Given the description of an element on the screen output the (x, y) to click on. 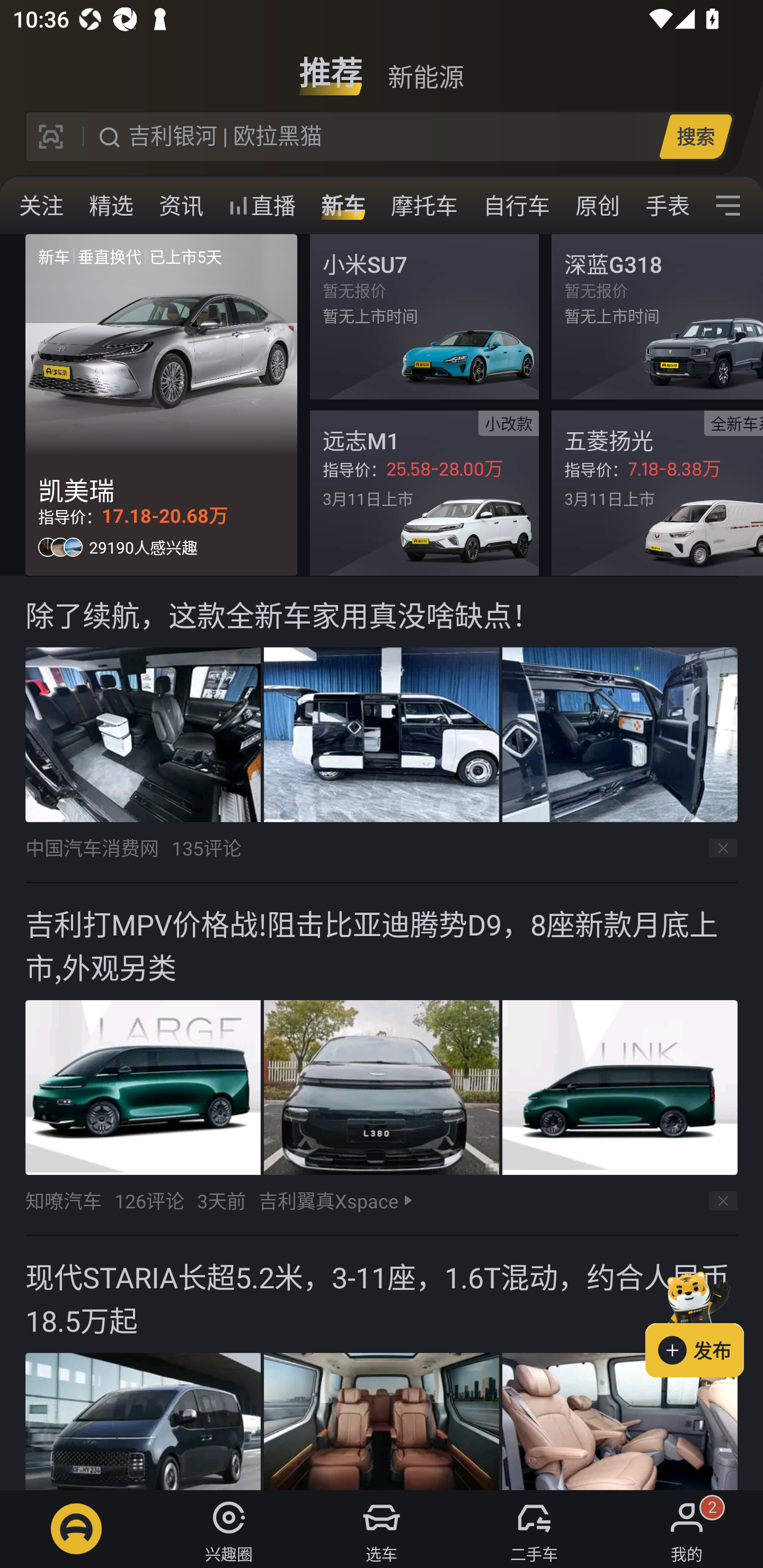
推荐 (330, 65)
新能源 (425, 65)
搜索 (695, 136)
关注 (41, 205)
精选 (111, 205)
资讯 (180, 205)
直播 (261, 205)
新车 (343, 205)
摩托车 (424, 205)
自行车 (516, 205)
原创 (597, 205)
手表 (663, 205)
 (727, 205)
暂无报价 (423, 316)
暂无报价 (657, 316)
小改款指导价：25.58-28.00万 (423, 492)
全新车系指导价：7.18-8.38万 (657, 492)
除了续航，这款全新车家用真没啥缺点！ 中国汽车消费网 135评论 (381, 729)
吉利翼真Xspace (328, 1199)
现代STARIA长超5.2米，3-11座，1.6T混动，约合人民币18.5万起 (381, 1362)
发布 (704, 1320)
 兴趣圈 (228, 1528)
 选车 (381, 1528)
 二手车 (533, 1528)
 我的 (686, 1528)
